Given the description of an element on the screen output the (x, y) to click on. 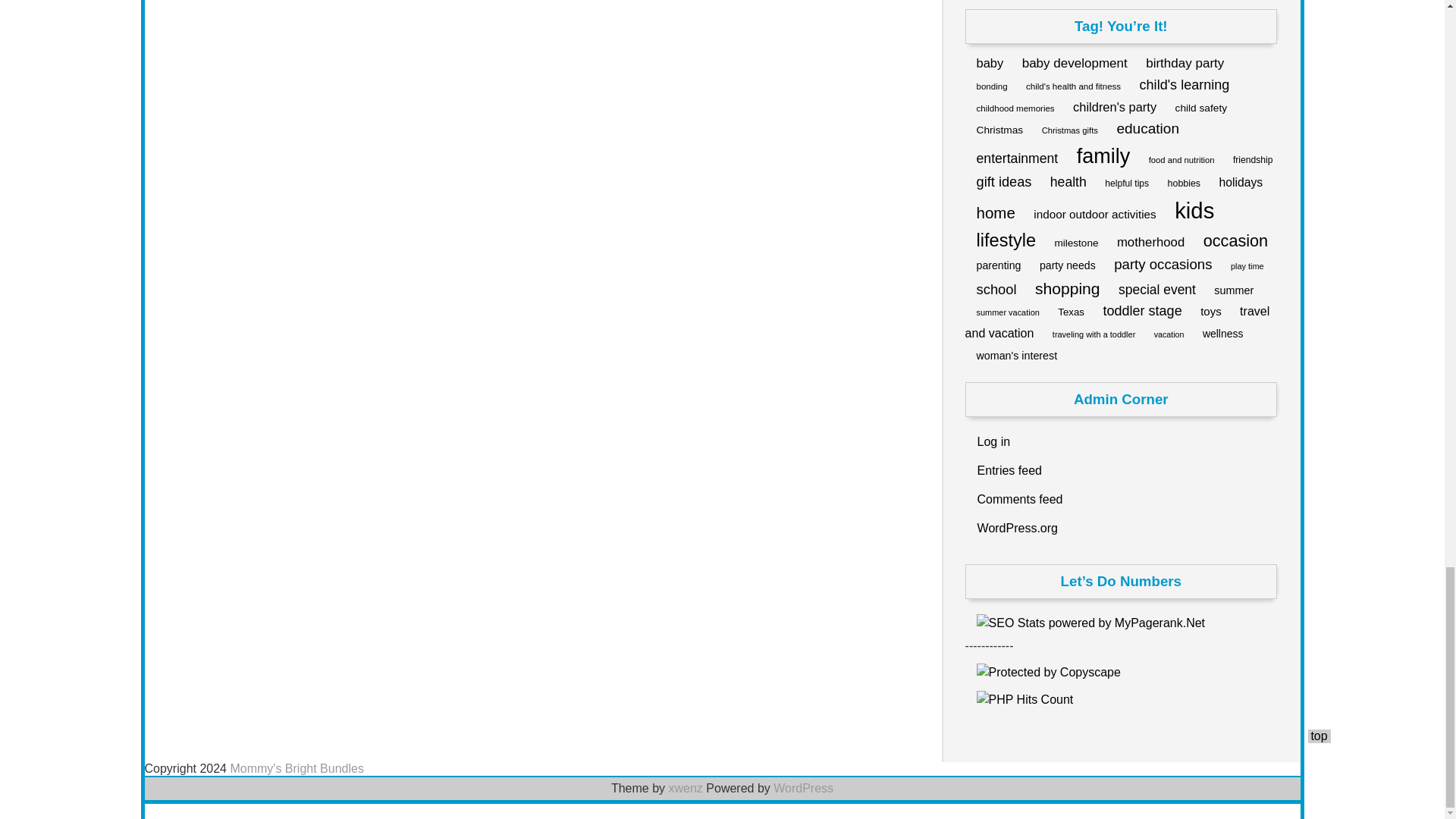
Protected by Copyscape - Do not copy content from this page. (1048, 672)
